Given the description of an element on the screen output the (x, y) to click on. 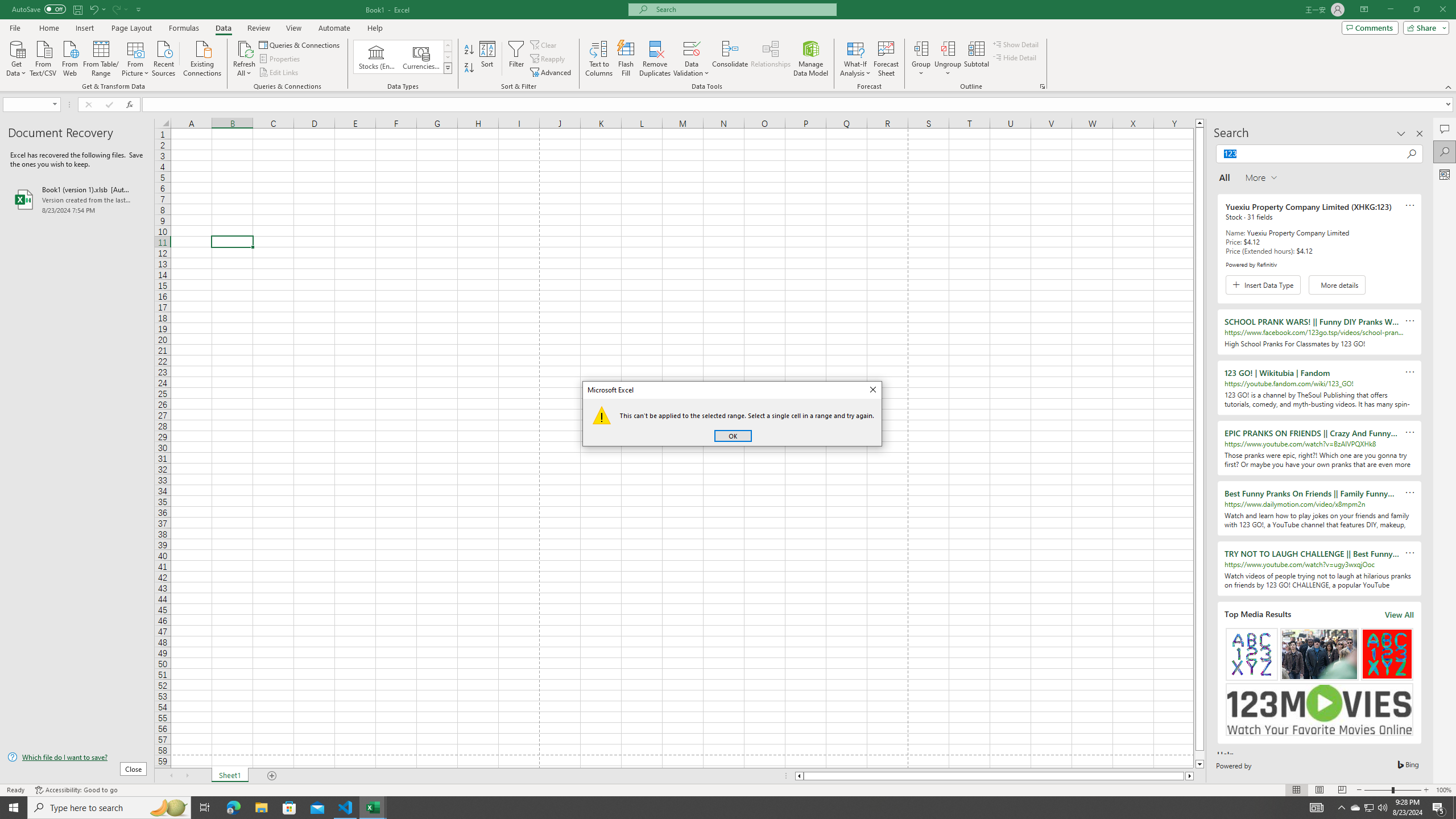
Relationships (770, 58)
Clear (544, 44)
User Promoted Notification Area (1368, 807)
Automate (334, 28)
Start (13, 807)
Row Down (448, 56)
